Given the description of an element on the screen output the (x, y) to click on. 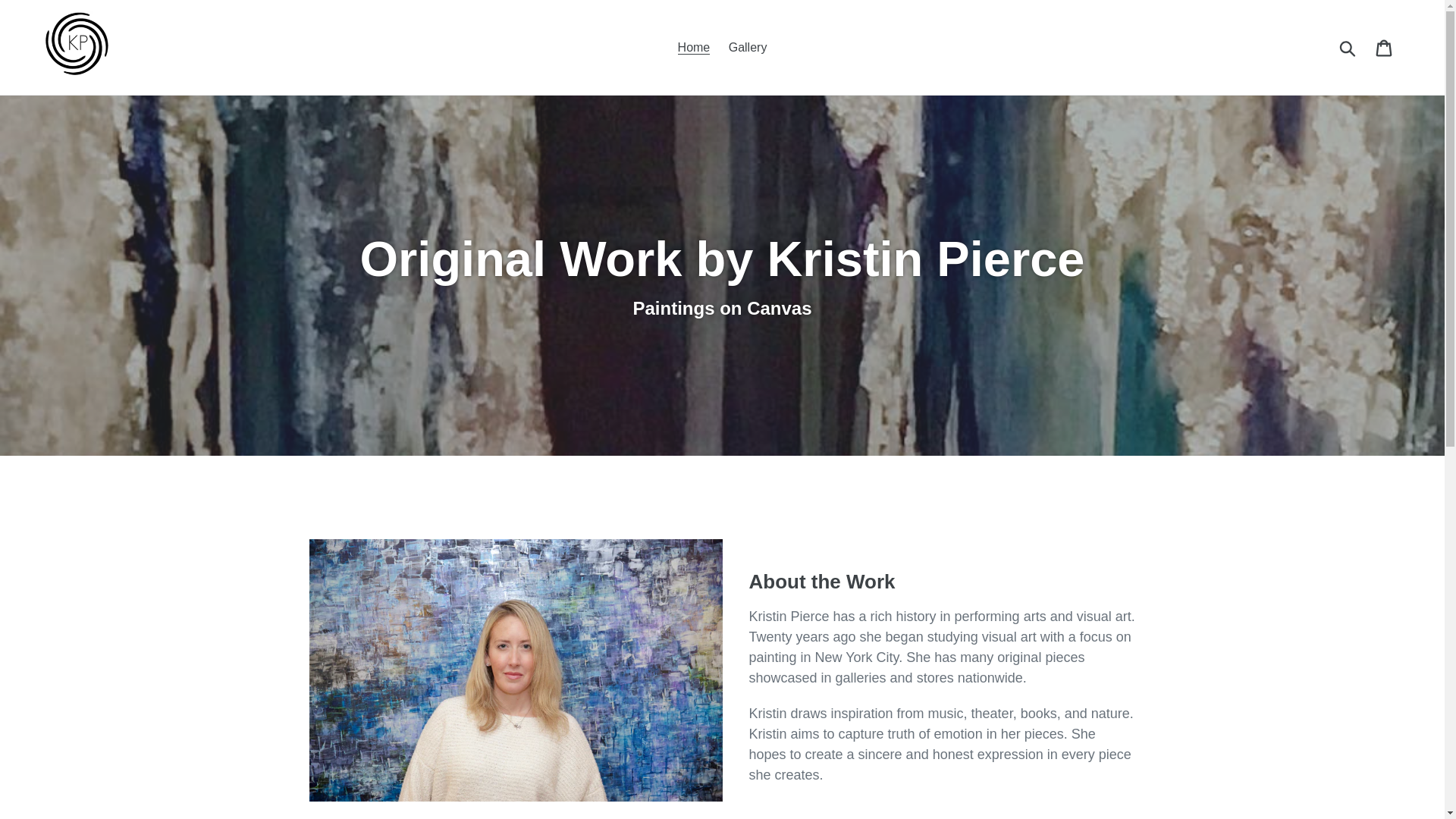
Cart (1385, 46)
Gallery (747, 47)
Submit (1348, 46)
Home (693, 47)
